Given the description of an element on the screen output the (x, y) to click on. 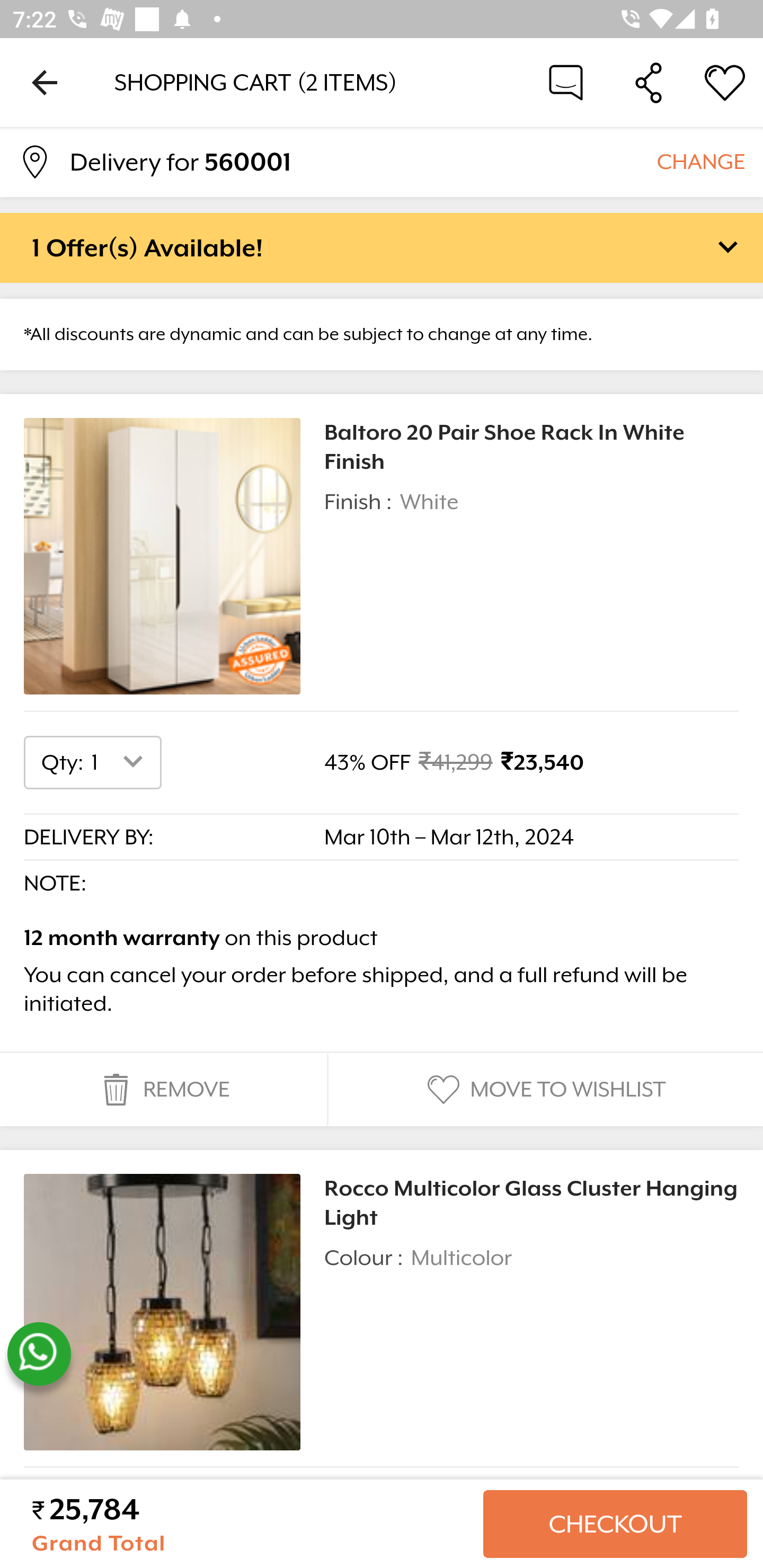
Navigate up (44, 82)
Chat (565, 81)
Share Cart (648, 81)
Wishlist (724, 81)
CHANGE (700, 161)
1 Offer(s) Available! (381, 247)
1 (121, 761)
REMOVE (163, 1089)
MOVE TO WISHLIST (544, 1089)
whatsapp (38, 1353)
₹ 25,784 Grand Total (250, 1523)
CHECKOUT (614, 1523)
